Given the description of an element on the screen output the (x, y) to click on. 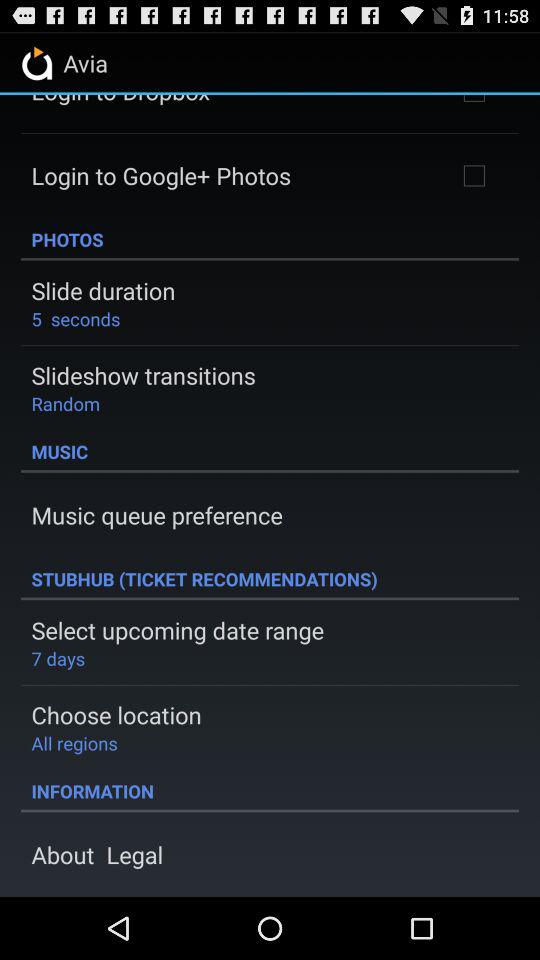
press the icon below the photos item (103, 290)
